Given the description of an element on the screen output the (x, y) to click on. 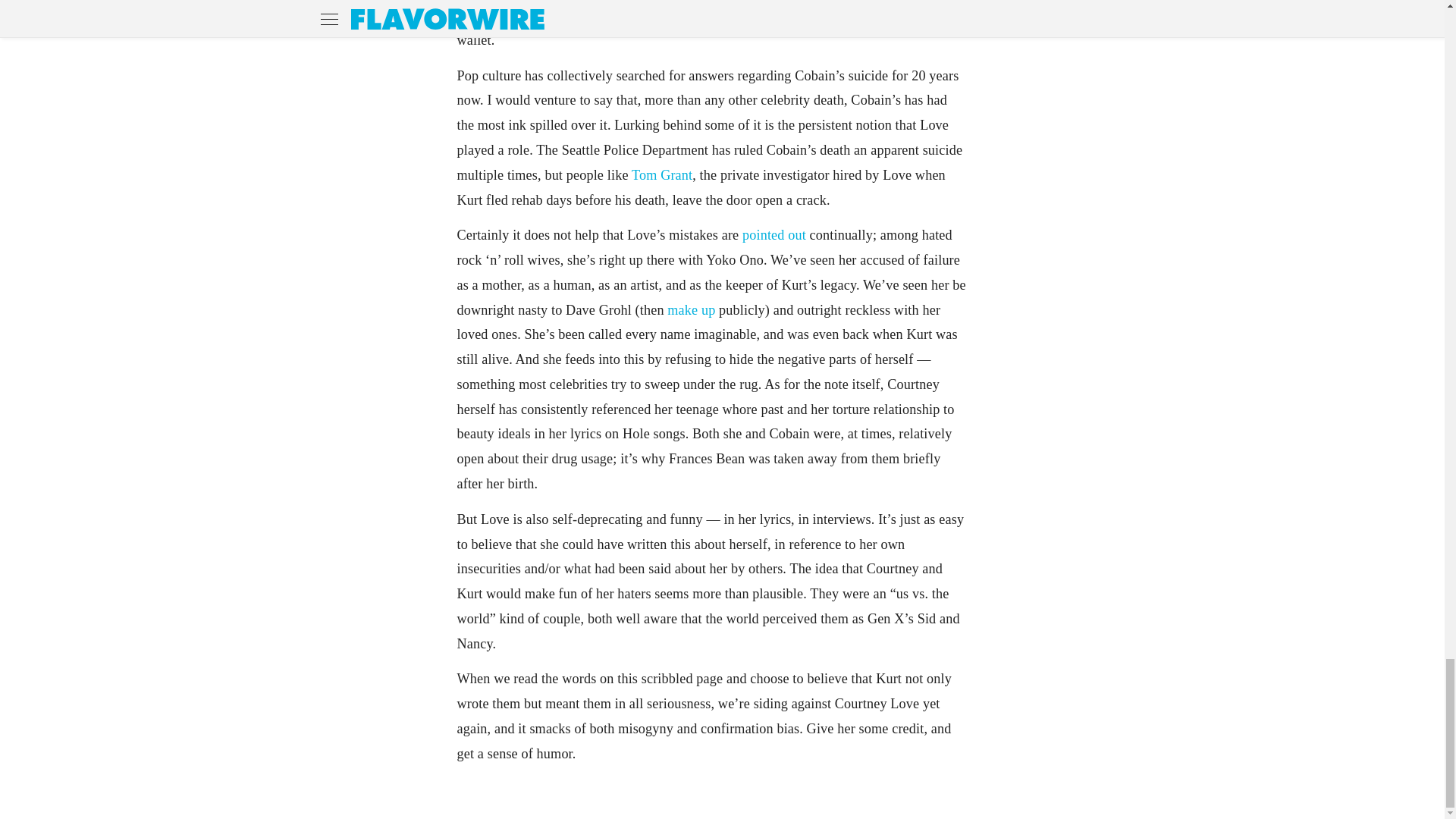
make up (690, 309)
Tom Grant (662, 174)
pointed out (774, 234)
